Given the description of an element on the screen output the (x, y) to click on. 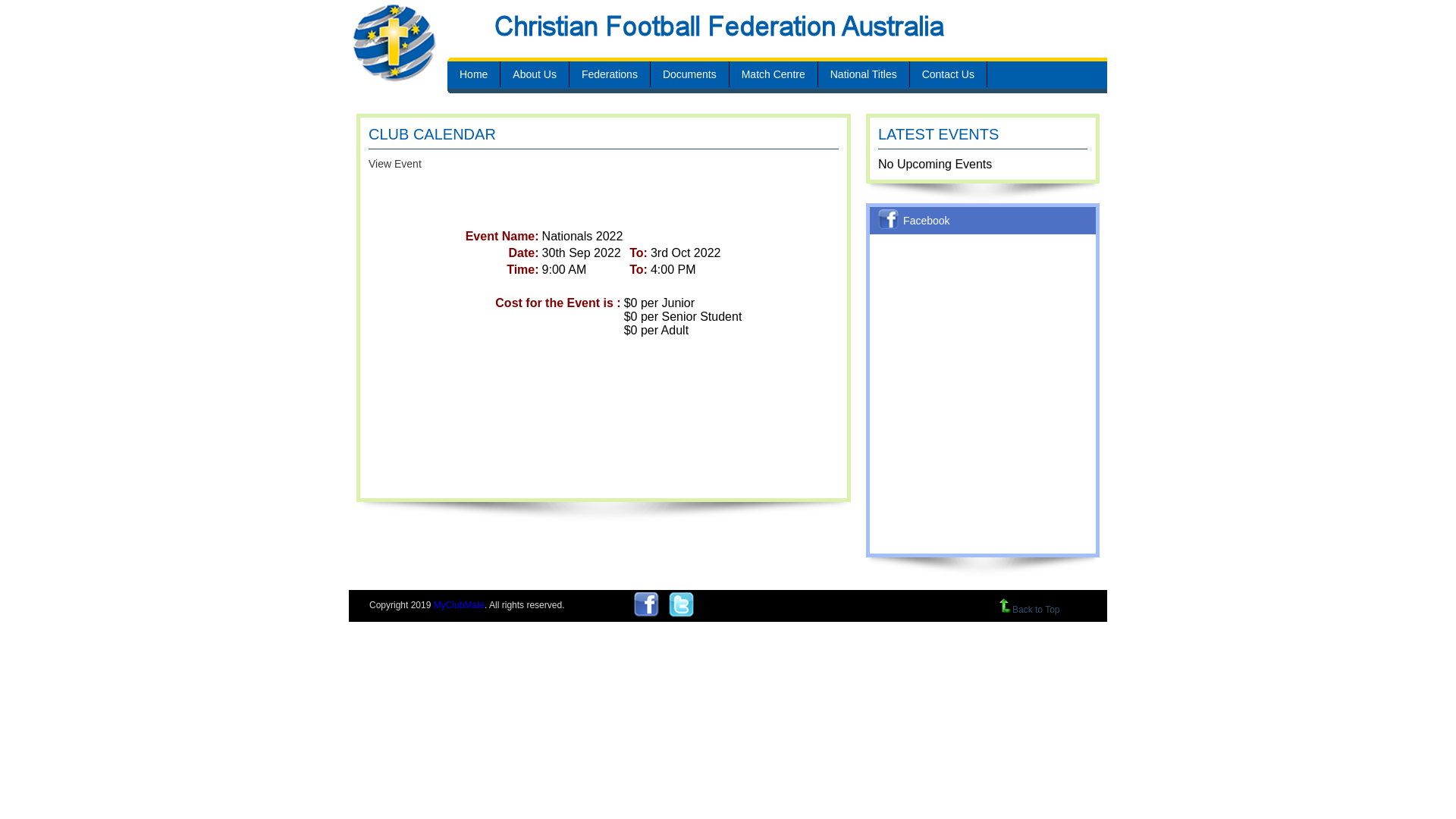
Match Centre Element type: text (773, 74)
Contact Us Element type: text (948, 74)
MyClubMate Element type: text (458, 604)
About Us Element type: text (534, 74)
Home Element type: text (473, 74)
National Titles Element type: text (863, 74)
logo Element type: hover (393, 41)
banner Element type: hover (742, 23)
Documents Element type: text (689, 74)
Back to Top Element type: text (1029, 609)
Federations Element type: text (609, 74)
